Given the description of an element on the screen output the (x, y) to click on. 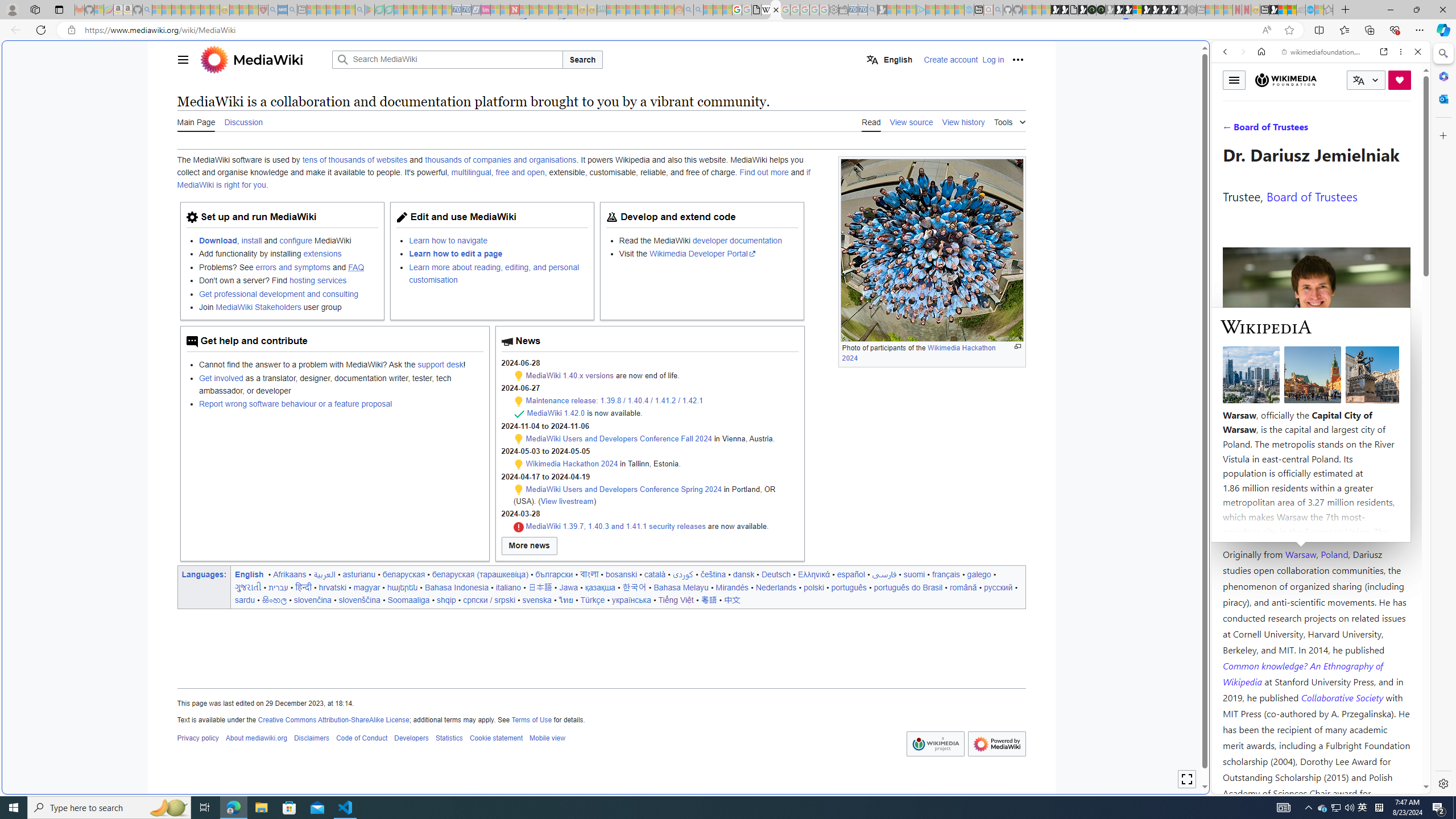
AutomationID: footer-copyrightico (934, 744)
